Given the description of an element on the screen output the (x, y) to click on. 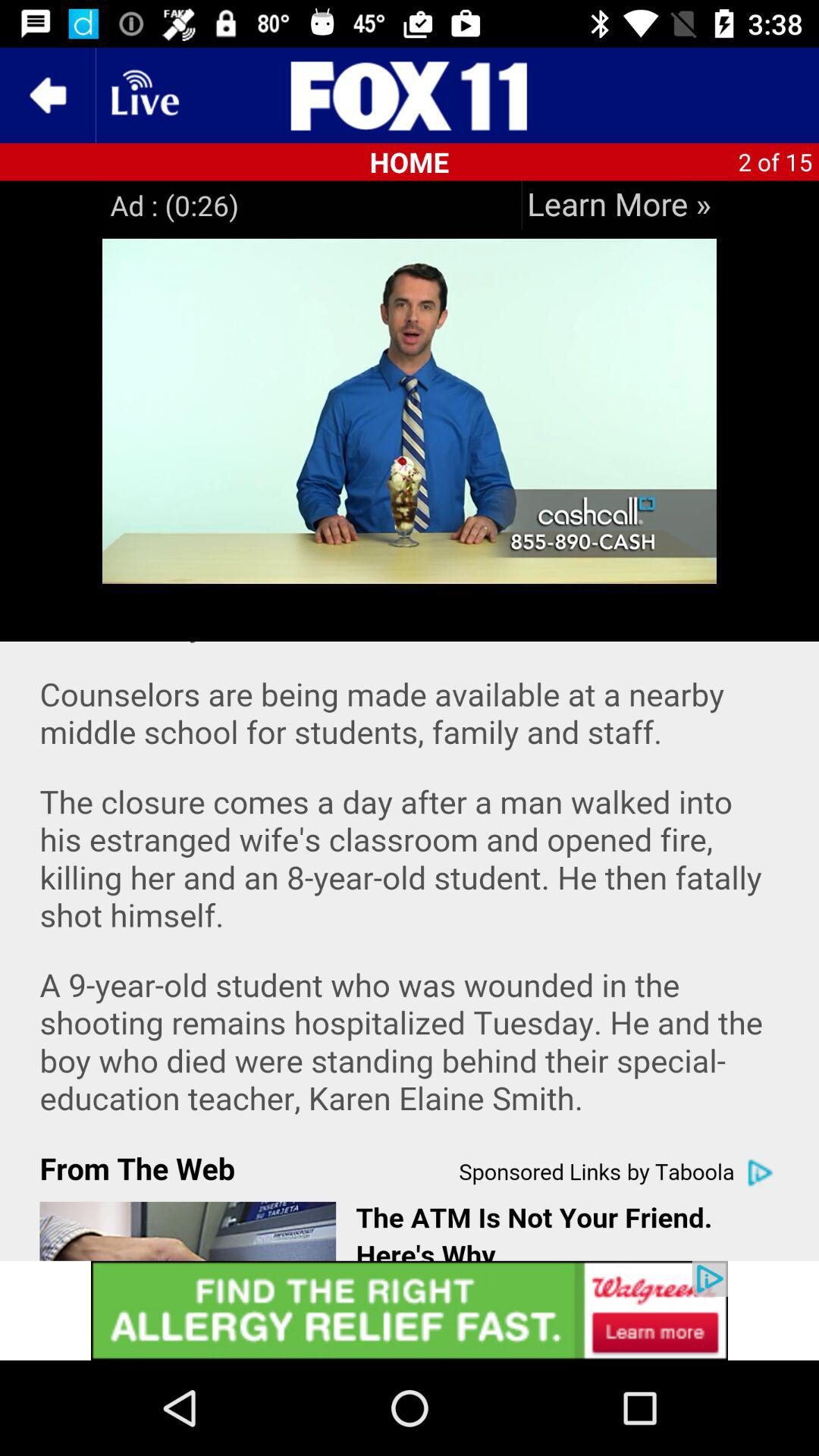
open live feed (143, 95)
